Given the description of an element on the screen output the (x, y) to click on. 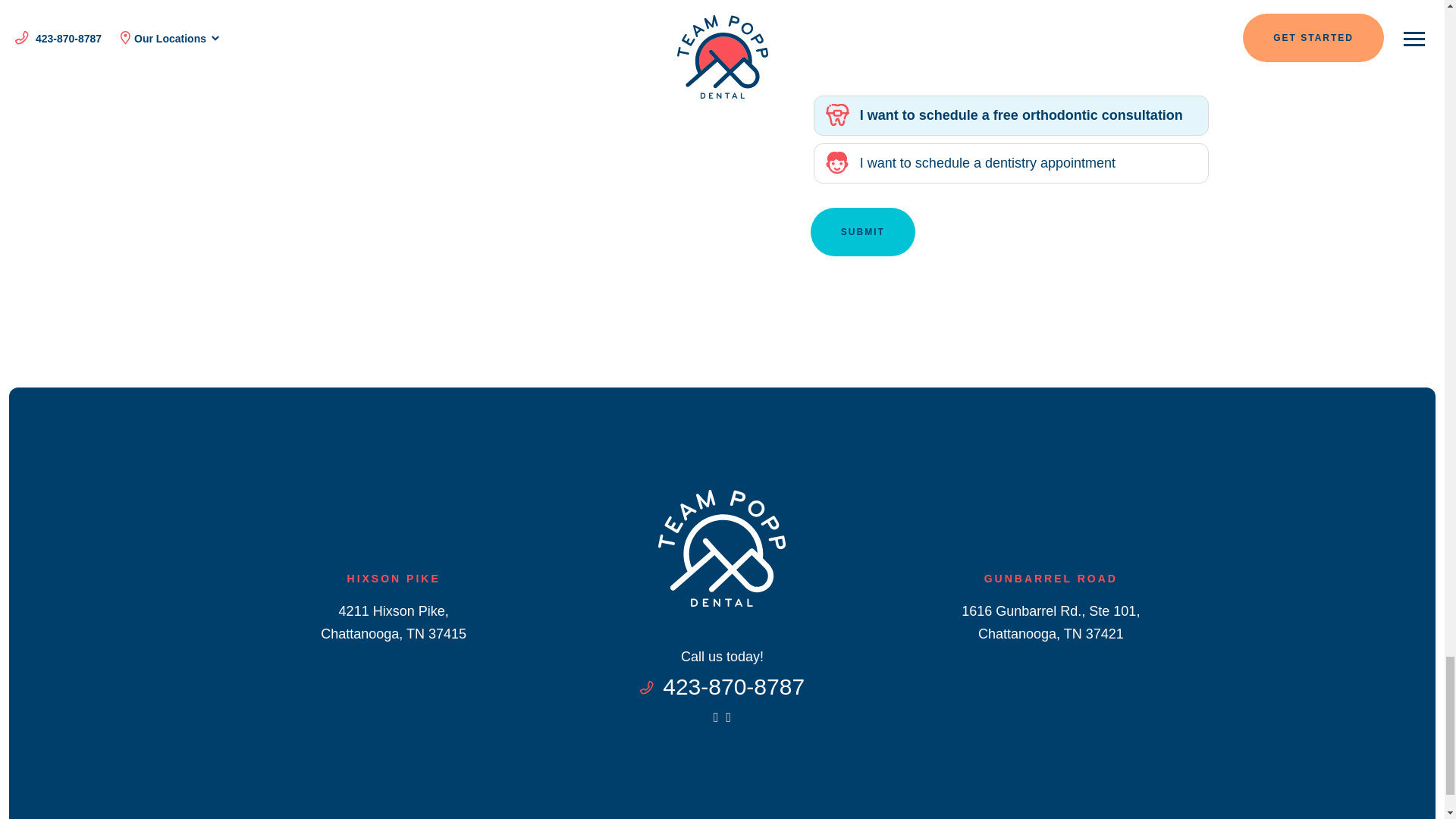
Submit (862, 232)
